Given the description of an element on the screen output the (x, y) to click on. 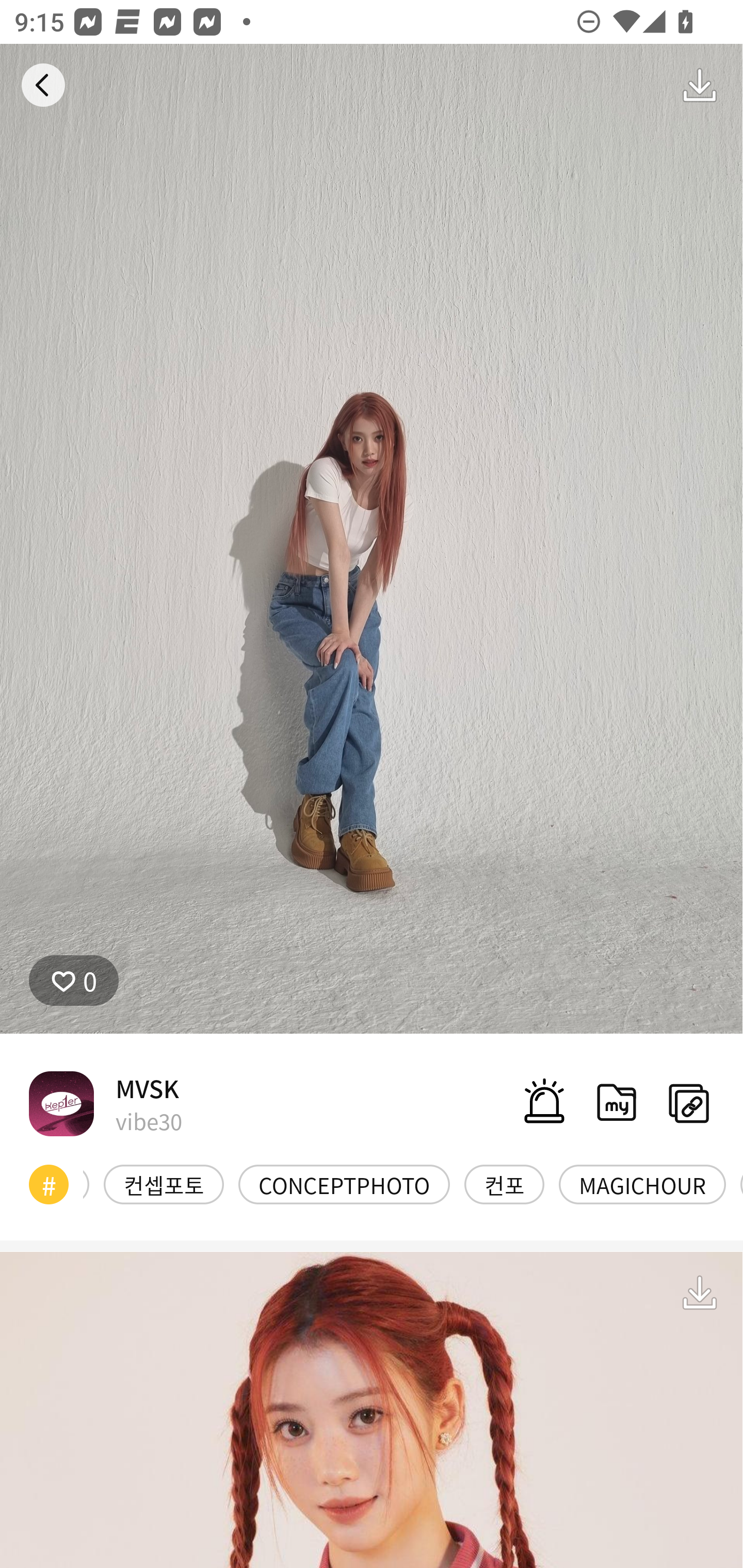
0 (73, 980)
MVSK vibe30 (105, 1102)
컨셉포토 (163, 1184)
CONCEPTPHOTO (344, 1184)
컨포 (504, 1184)
MAGICHOUR (641, 1184)
